Given the description of an element on the screen output the (x, y) to click on. 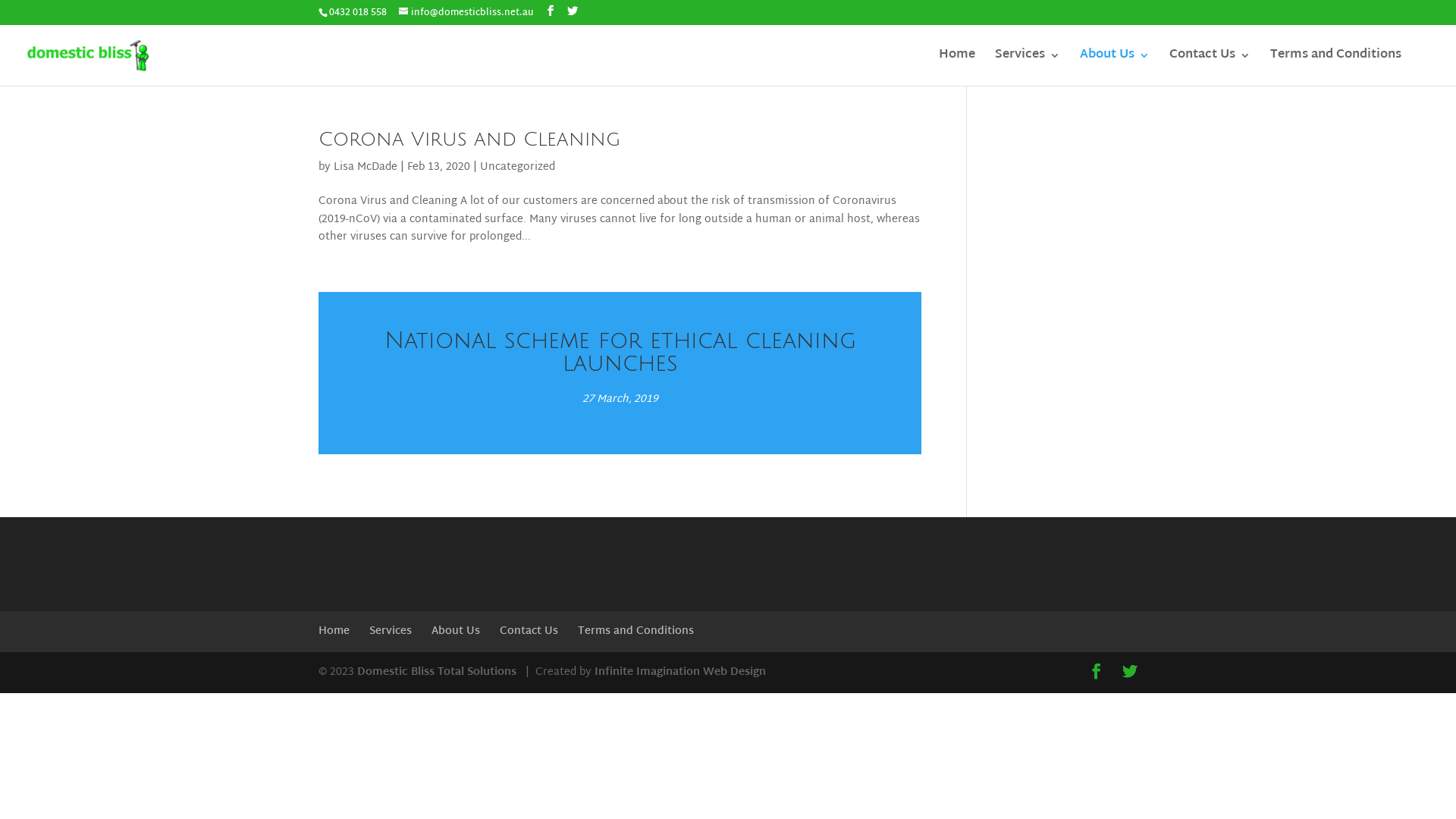
Contact Us Element type: text (528, 630)
Domestic Bliss Total Solutions Element type: text (436, 671)
Contact Us Element type: text (1209, 67)
info@domesticbliss.net.au Element type: text (465, 12)
Corona Virus and Cleaning Element type: text (469, 139)
Uncategorized Element type: text (517, 166)
About Us Element type: text (1114, 67)
Services Element type: text (390, 630)
Lisa McDade Element type: text (365, 166)
Infinite Imagination Web Design Element type: text (679, 671)
About Us Element type: text (455, 630)
Terms and Conditions Element type: text (635, 630)
Terms and Conditions Element type: text (1335, 67)
Services Element type: text (1027, 67)
Read more Element type: text (619, 372)
Home Element type: text (956, 67)
Home Element type: text (333, 630)
